Given the description of an element on the screen output the (x, y) to click on. 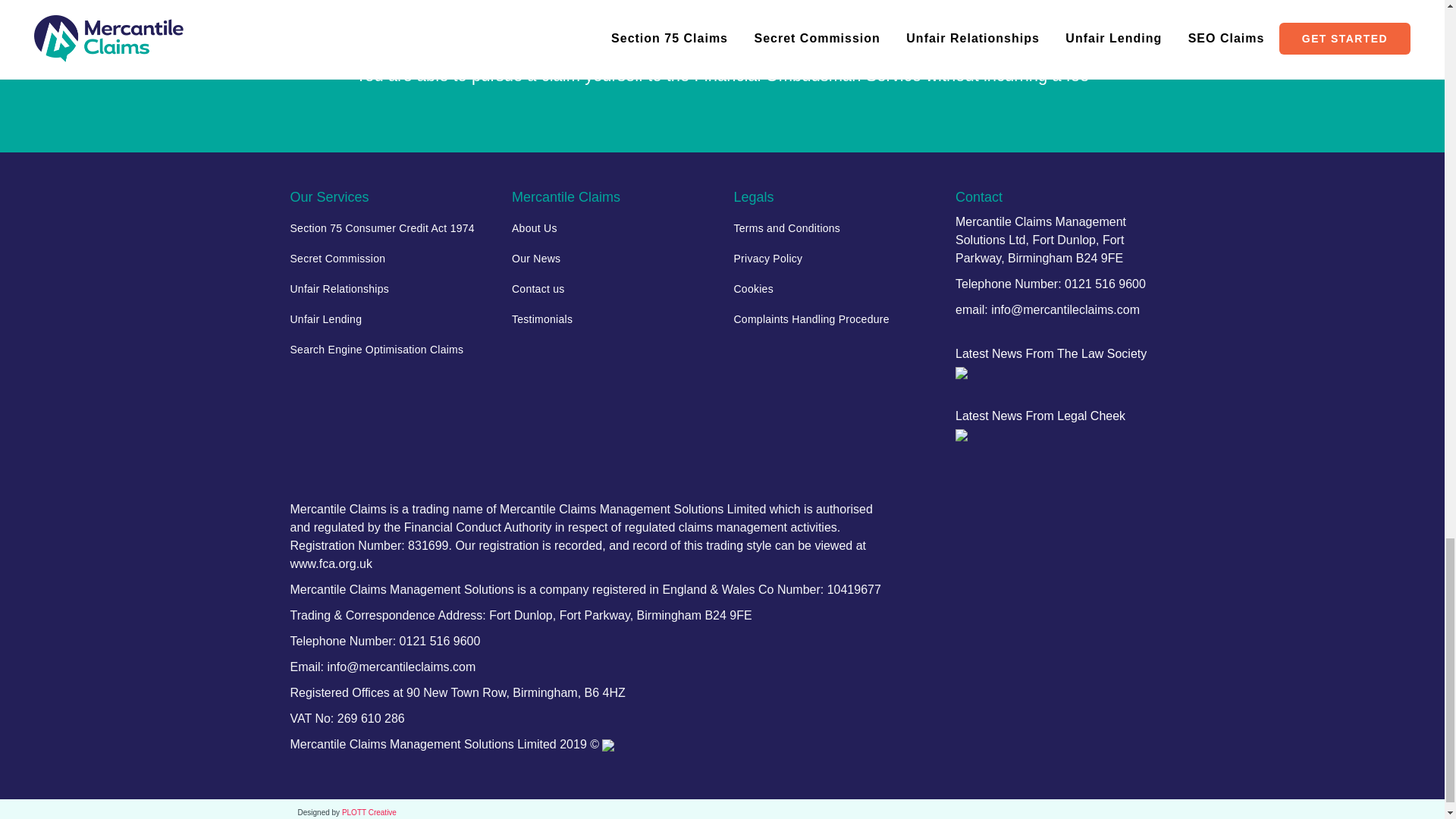
Section 75 Consumer Credit Act 1974 (389, 227)
Unfair Lending (389, 318)
Search Engine Optimisation Claims (389, 349)
Secret Commission (389, 258)
Contact us (611, 288)
Send Enquiry (722, 39)
Send Enquiry (722, 39)
About Us (611, 227)
Unfair Relationships (389, 288)
Our News (611, 258)
